Given the description of an element on the screen output the (x, y) to click on. 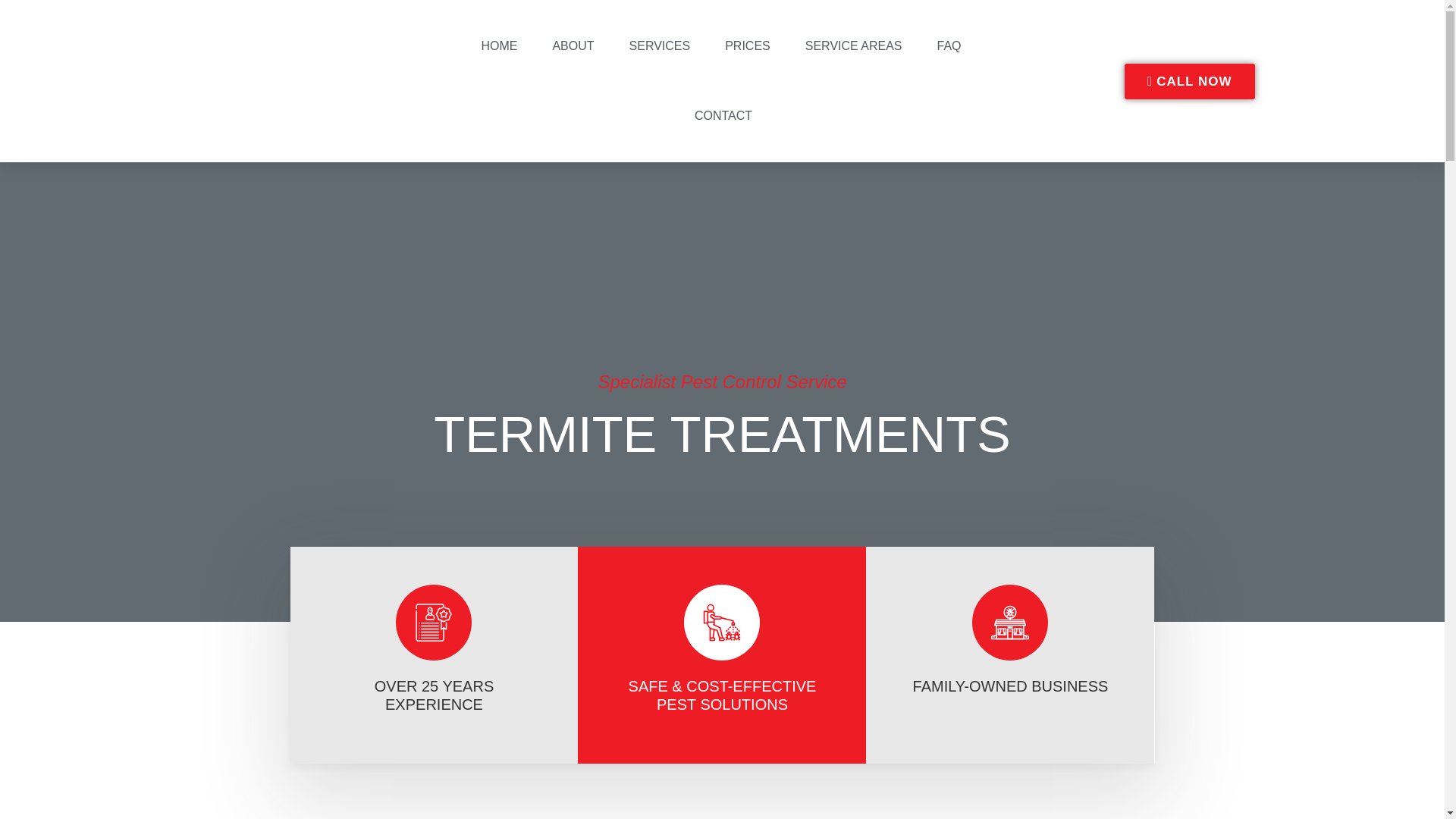
HOME (498, 46)
PRICES (748, 46)
SERVICE AREAS (853, 46)
SERVICES (660, 46)
ABOUT (572, 46)
CONTACT (723, 115)
CALL NOW (1189, 81)
